Given the description of an element on the screen output the (x, y) to click on. 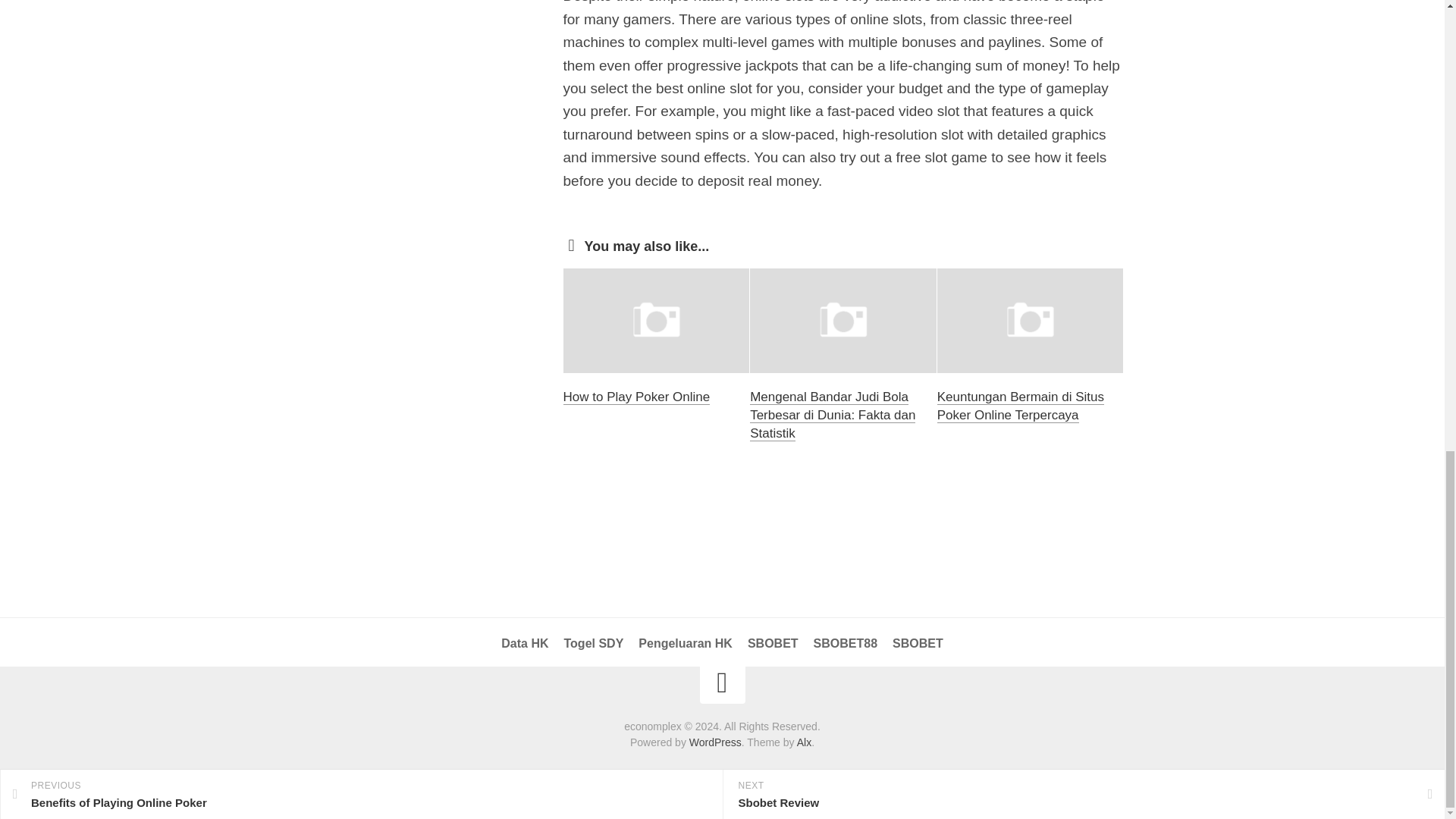
Pengeluaran HK (685, 643)
Togel SDY (594, 643)
Data HK (524, 643)
SBOBET (917, 643)
How to Play Poker Online (636, 396)
SBOBET (772, 643)
SBOBET88 (845, 643)
Keuntungan Bermain di Situs Poker Online Terpercaya (1020, 405)
